Given the description of an element on the screen output the (x, y) to click on. 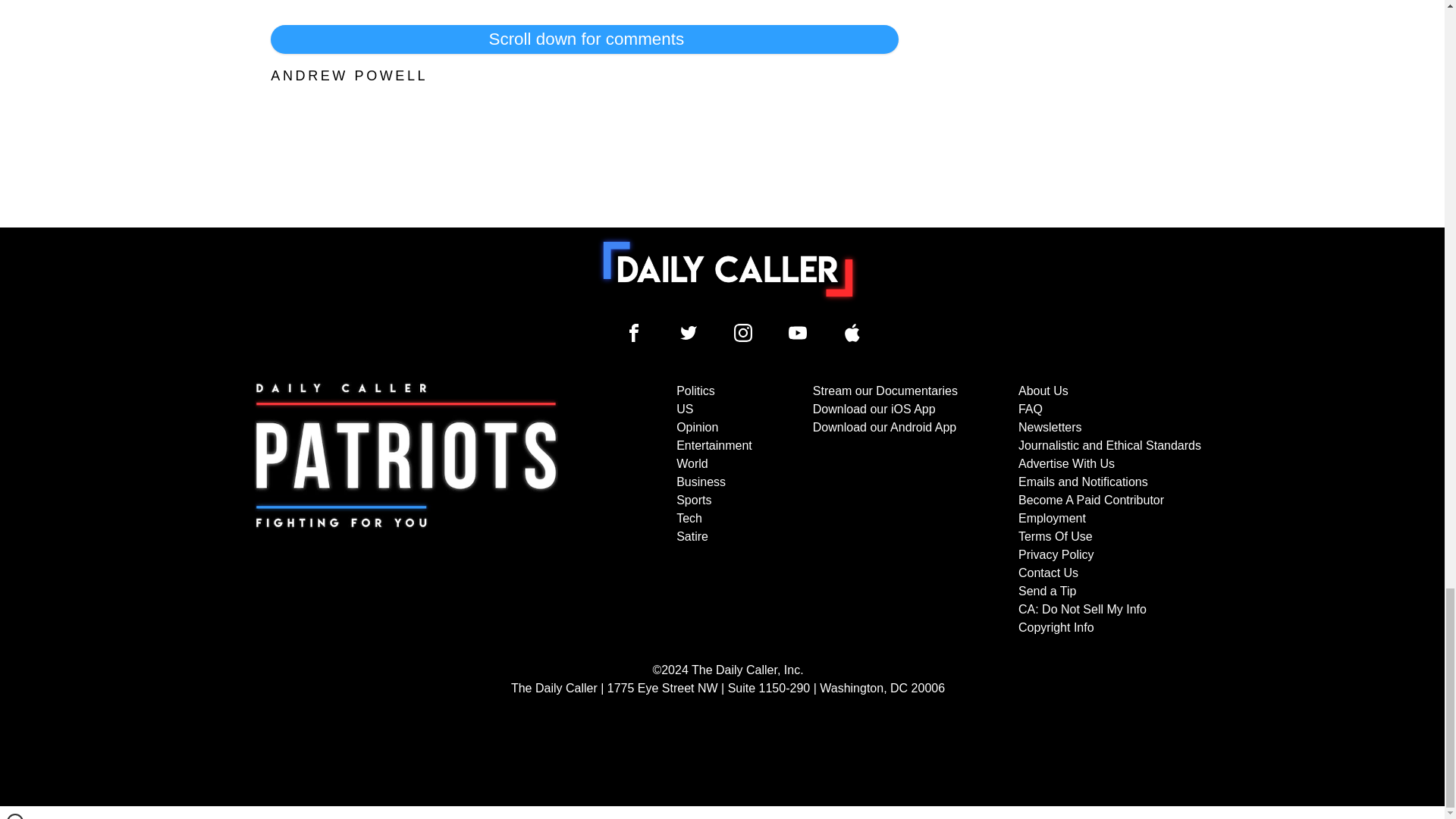
Daily Caller YouTube (797, 332)
Daily Caller Instagram (742, 332)
Daily Caller Twitter (688, 332)
Scroll down for comments (584, 39)
Subscribe to The Daily Caller (405, 509)
Daily Caller YouTube (852, 332)
Daily Caller Facebook (633, 332)
To home page (727, 268)
